Given the description of an element on the screen output the (x, y) to click on. 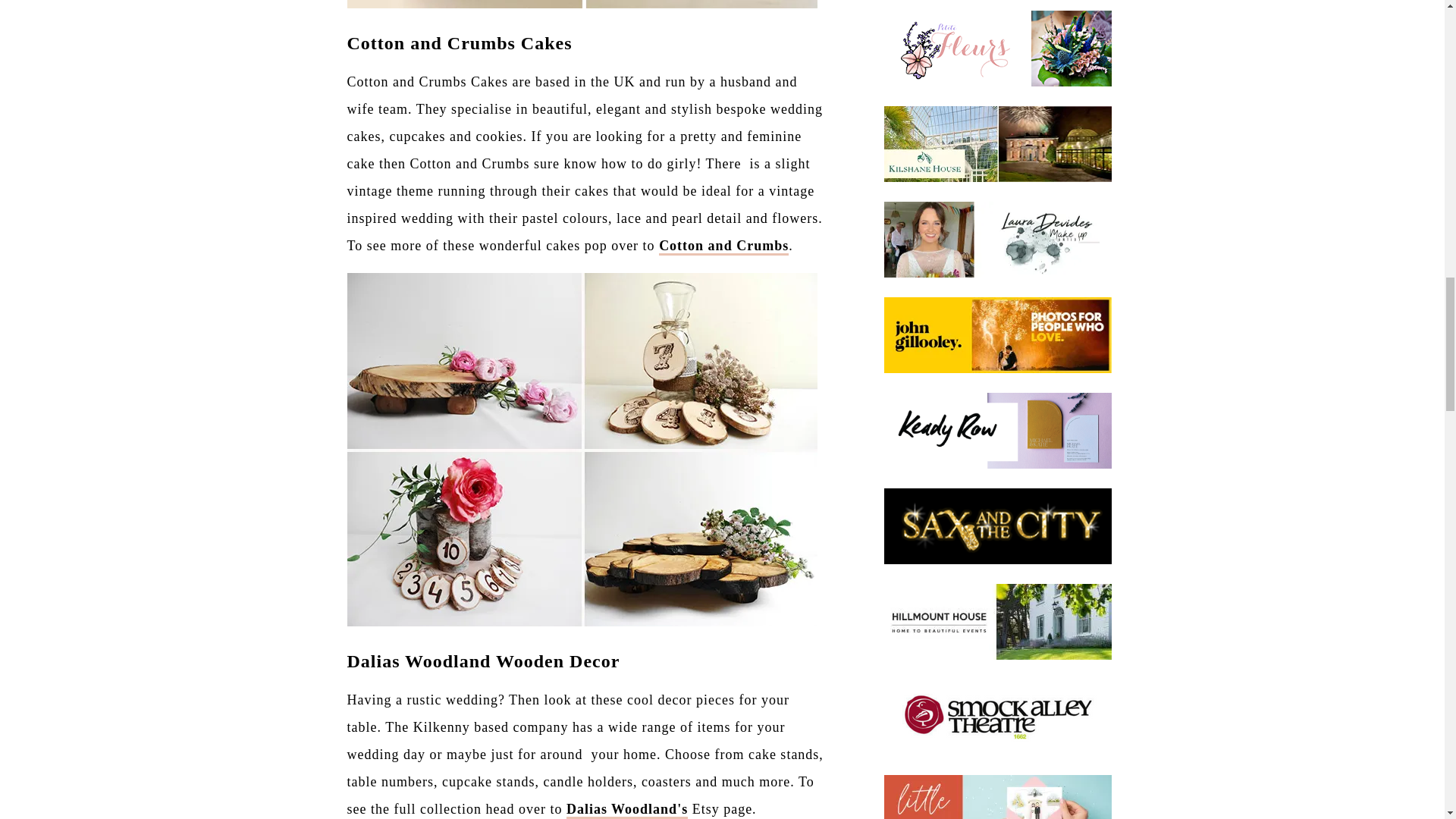
Cotton and Crumbs (724, 246)
Dalias Woodland (626, 810)
